Given the description of an element on the screen output the (x, y) to click on. 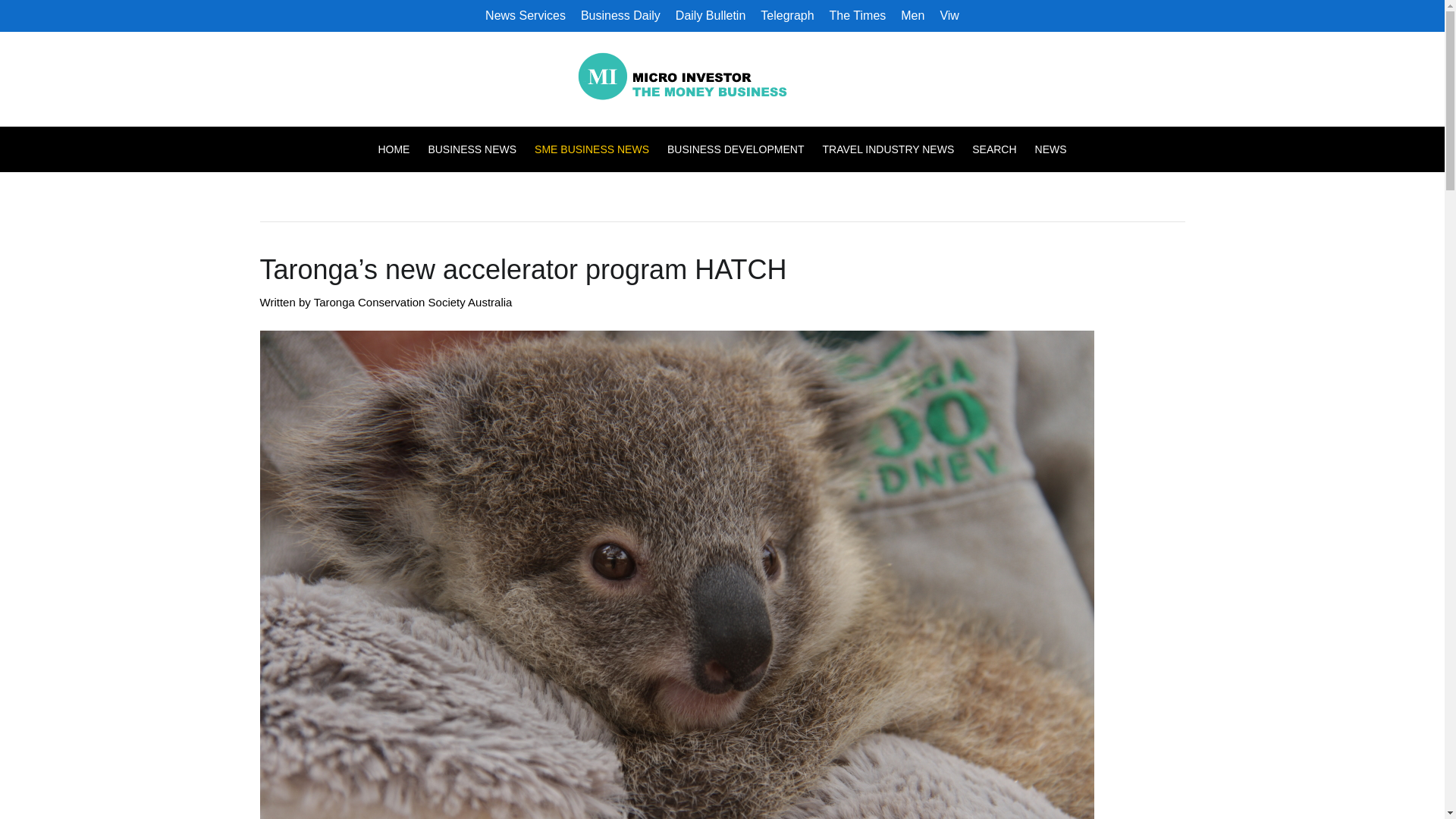
HOME (398, 148)
NEWS (1046, 148)
News Services (525, 15)
SME BUSINESS NEWS (591, 148)
The Times (857, 15)
BUSINESS DEVELOPMENT (735, 148)
Business Daily (620, 15)
BUSINESS NEWS (472, 148)
SEARCH (993, 148)
TRAVEL INDUSTRY NEWS (887, 148)
